Given the description of an element on the screen output the (x, y) to click on. 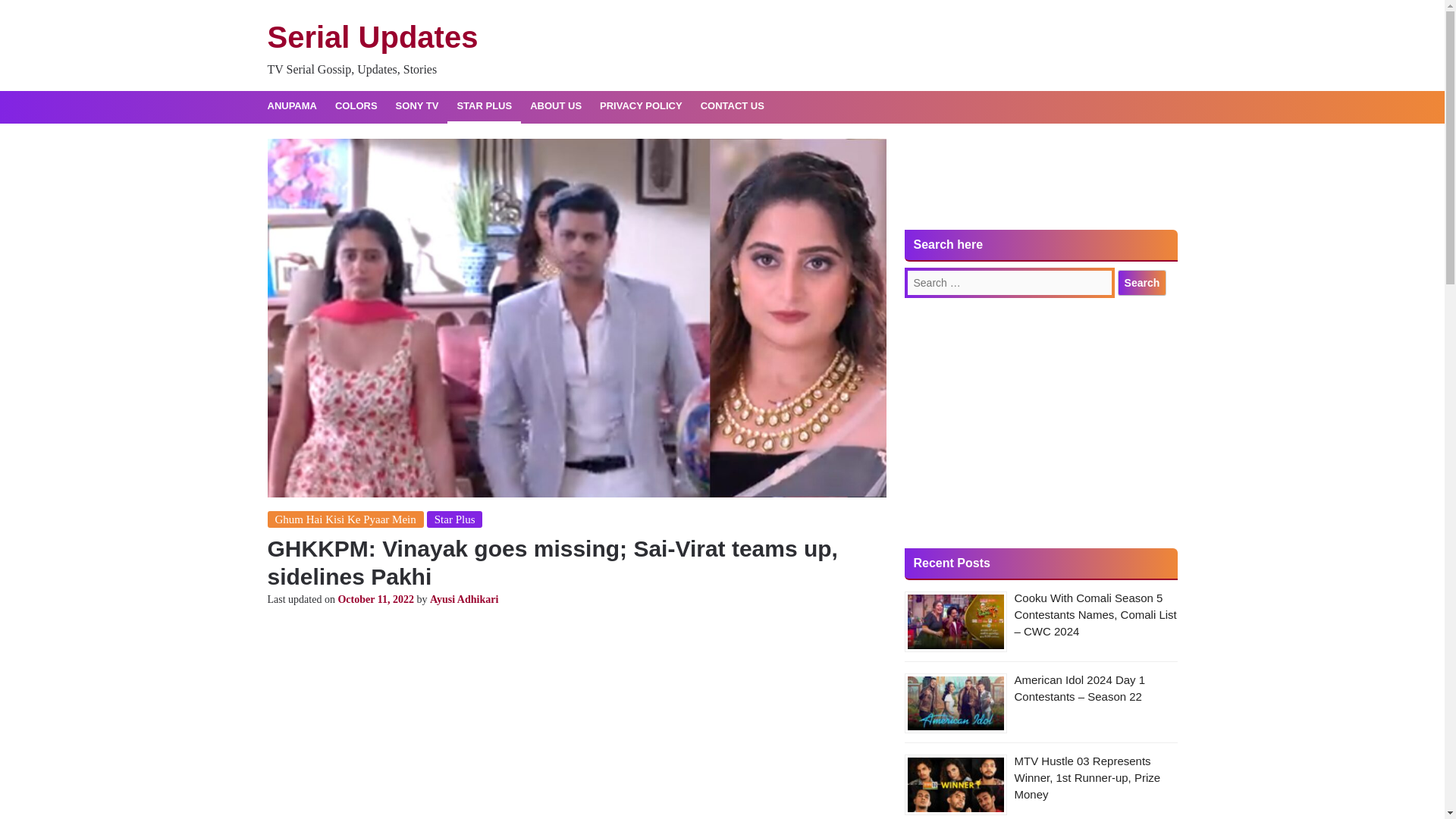
STAR PLUS (483, 106)
ABOUT US (556, 106)
Advertisement (1040, 422)
Star Plus (454, 519)
Ghum Hai Kisi Ke Pyaar Mein (344, 519)
Advertisement (1040, 183)
October 11, 2022 (375, 599)
Search (1142, 282)
Search (1142, 282)
Serial Updates (371, 37)
Advertisement (575, 719)
ANUPAMA (290, 106)
MTV Hustle 03 Represents Winner, 1st Runner-up, Prize Money (1087, 777)
CONTACT US (732, 106)
Ayusi Adhikari (463, 599)
